Given the description of an element on the screen output the (x, y) to click on. 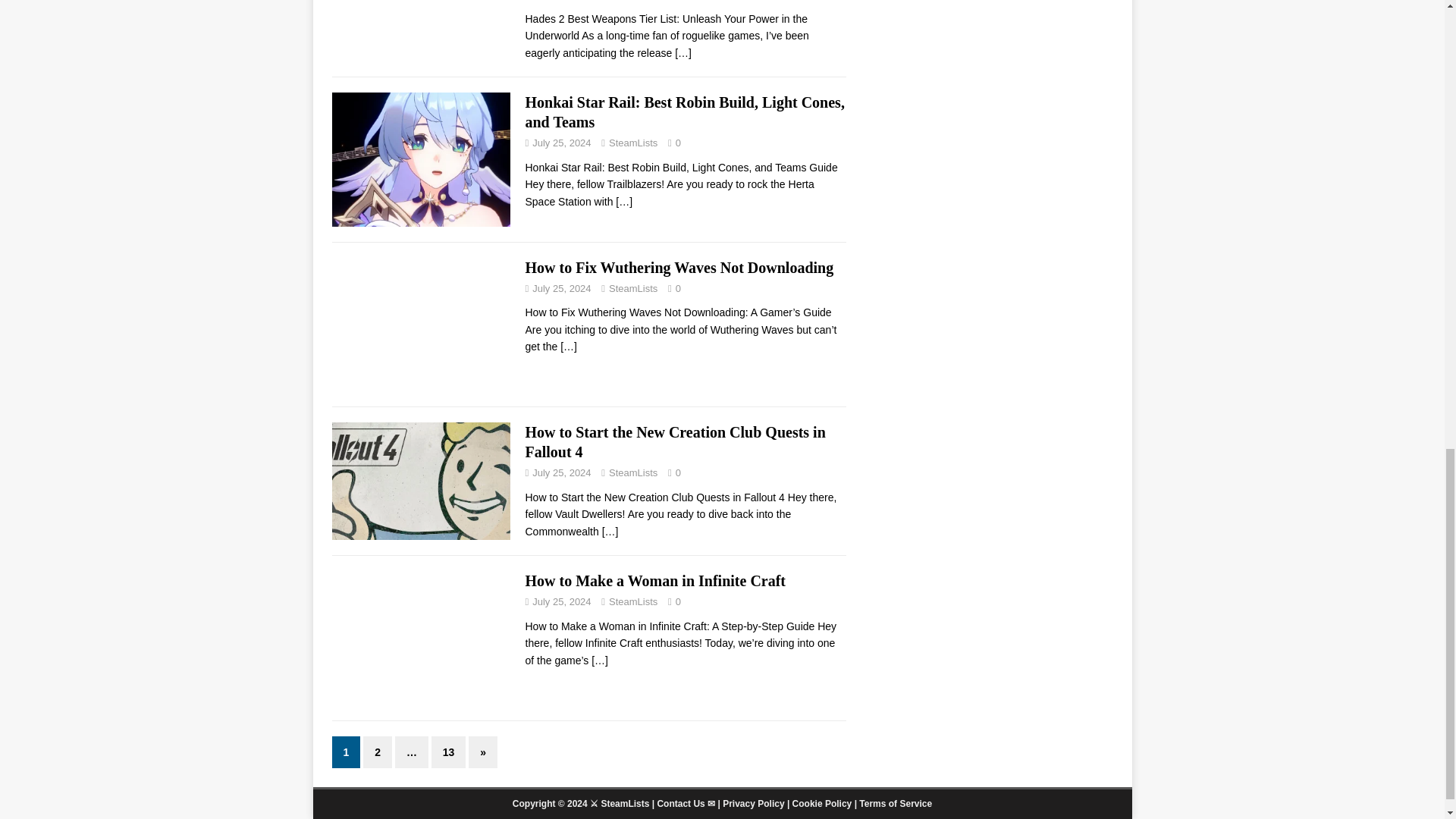
How to Fix Wuthering Waves Not Downloading 8 (421, 324)
Honkai Star Rail: Best Robin Build, Light Cones, and Teams (684, 112)
How to Start the New Creation Club Quests in Fallout 4 9 (421, 480)
How to Fix Wuthering Waves Not Downloading (568, 346)
Honkai Star Rail: Best Robin Build, Light Cones, and Teams (623, 201)
SteamLists (633, 142)
Honkai Star Rail: Best Robin Build, Light Cones, and Teams 7 (421, 159)
